Given the description of an element on the screen output the (x, y) to click on. 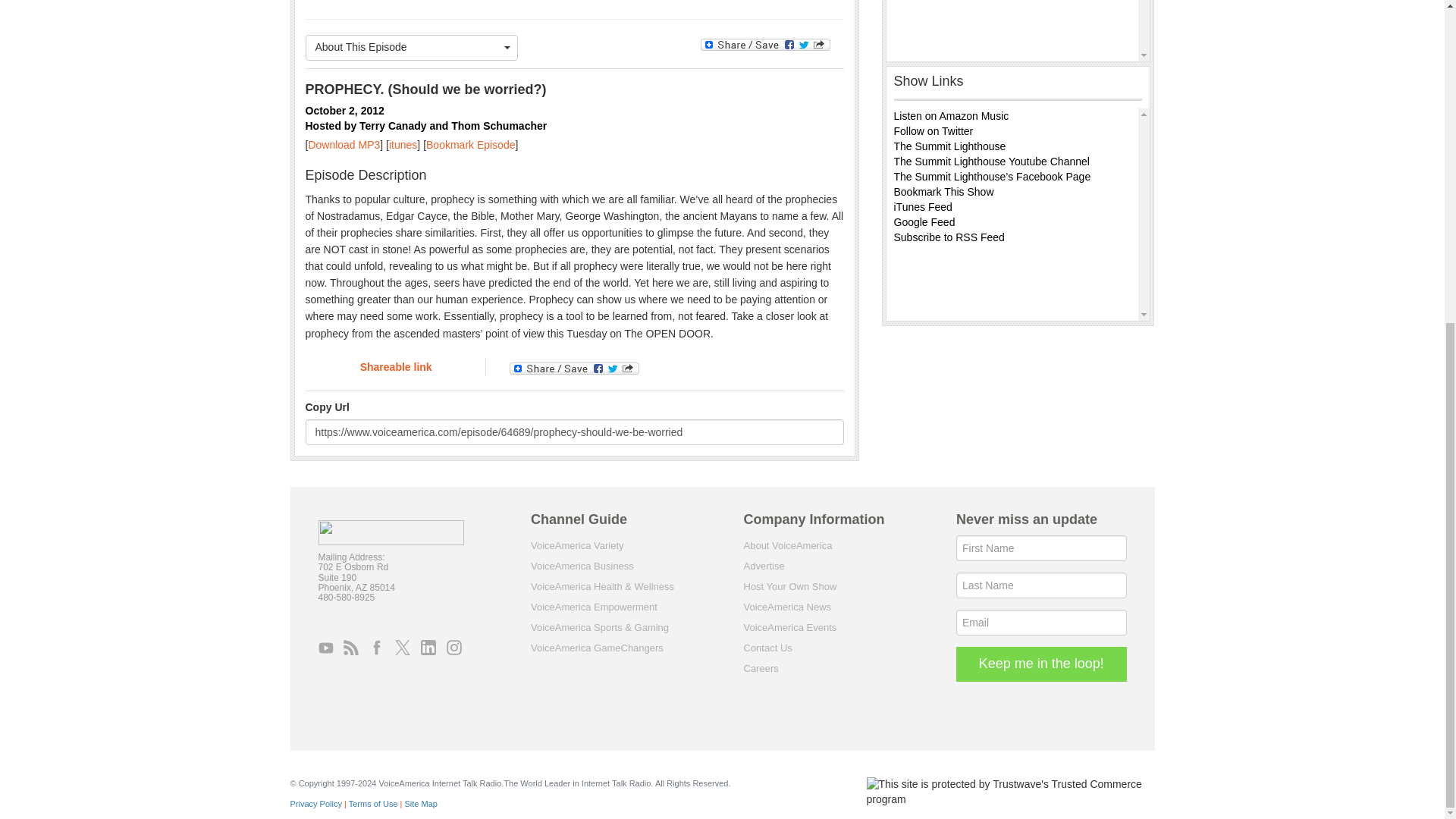
Download MP3 (343, 144)
About This Episode (411, 47)
Bookmark Episode (470, 144)
itunes (402, 144)
